Given the description of an element on the screen output the (x, y) to click on. 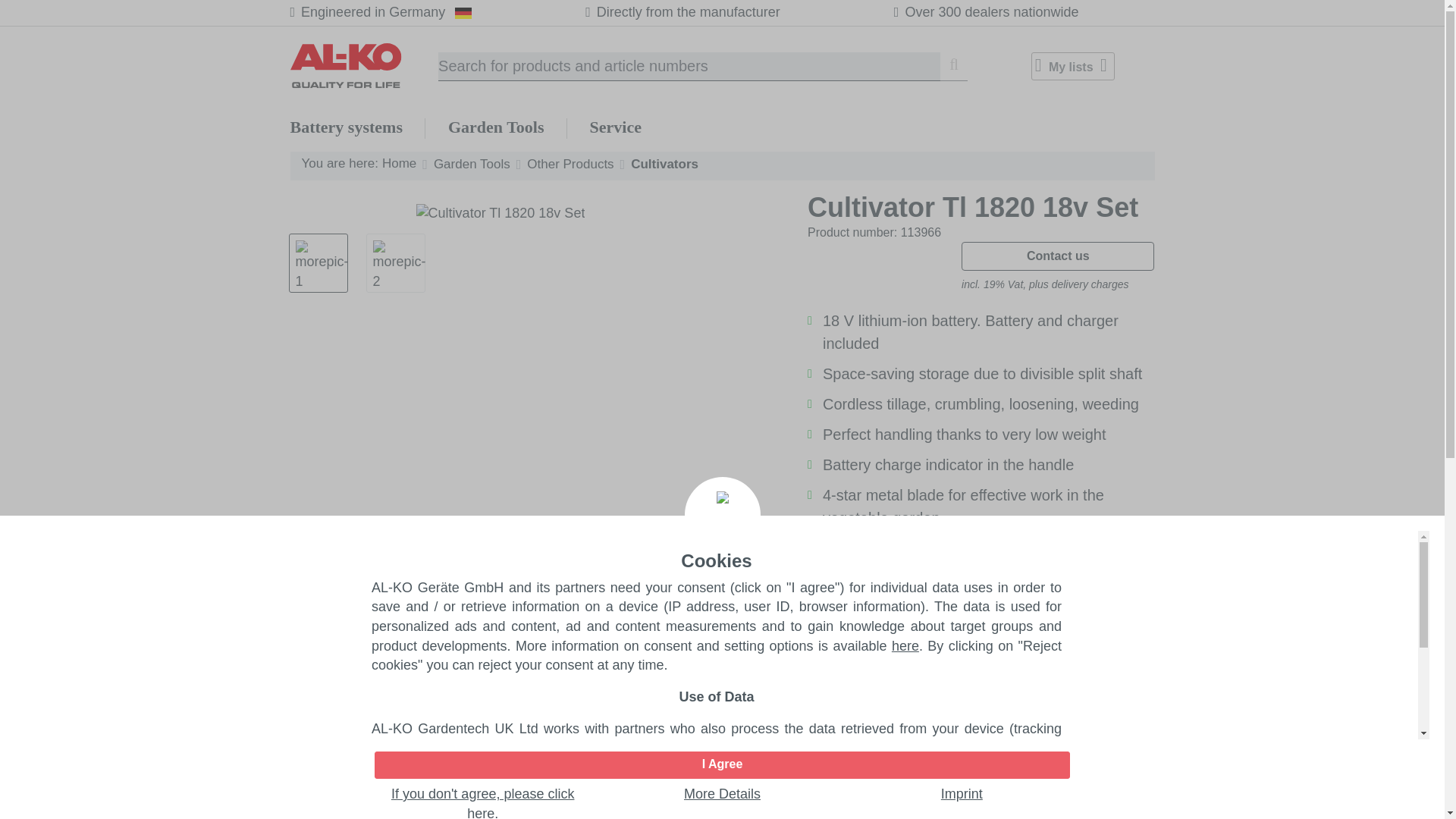
Garden Tools (496, 127)
AL-KO Gardentech (363, 65)
Search (954, 66)
Garden Tools (496, 127)
My lists (1072, 66)
Battery systems (346, 127)
Battery systems (346, 127)
